Given the description of an element on the screen output the (x, y) to click on. 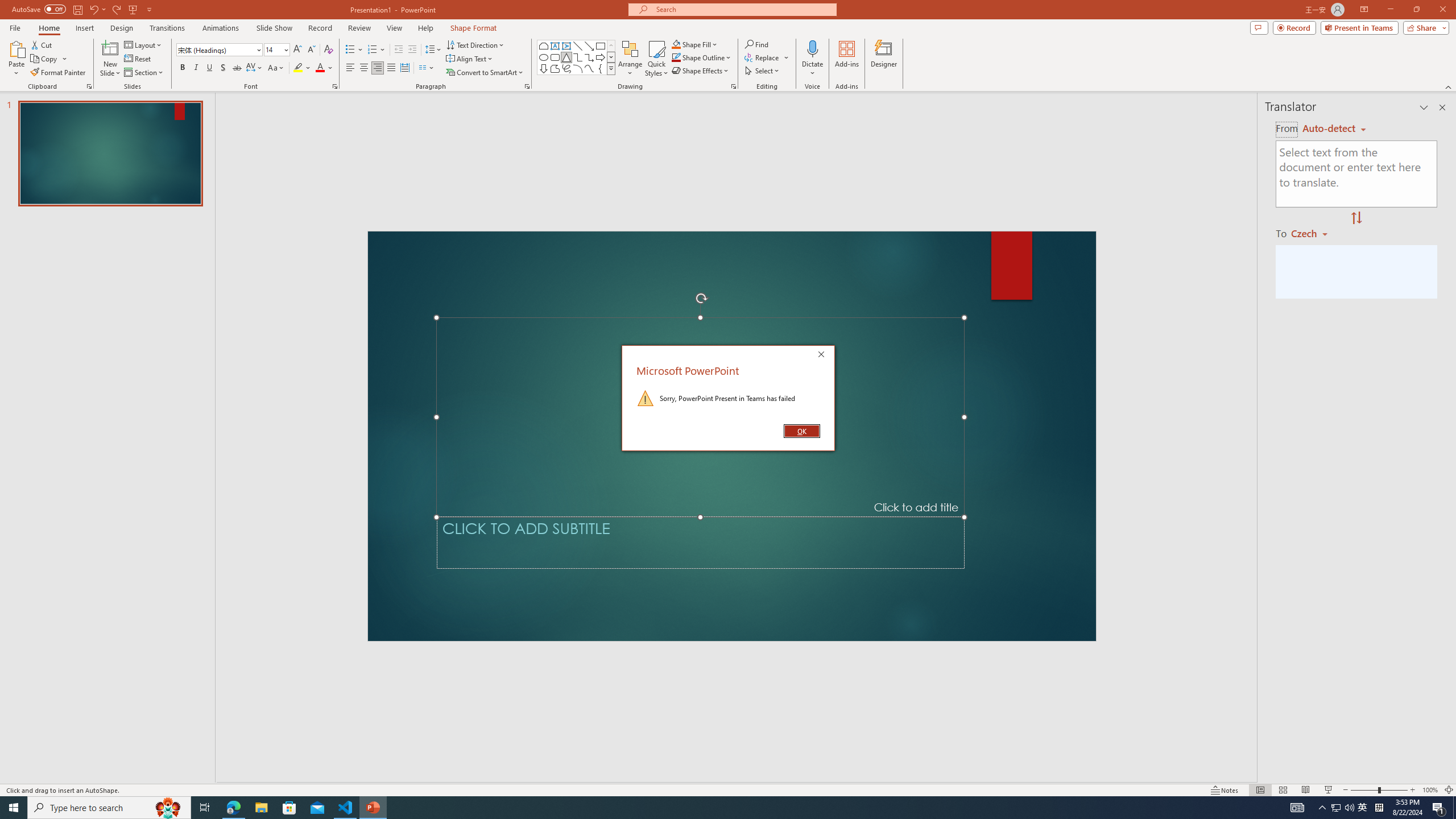
OK (801, 431)
